Given the description of an element on the screen output the (x, y) to click on. 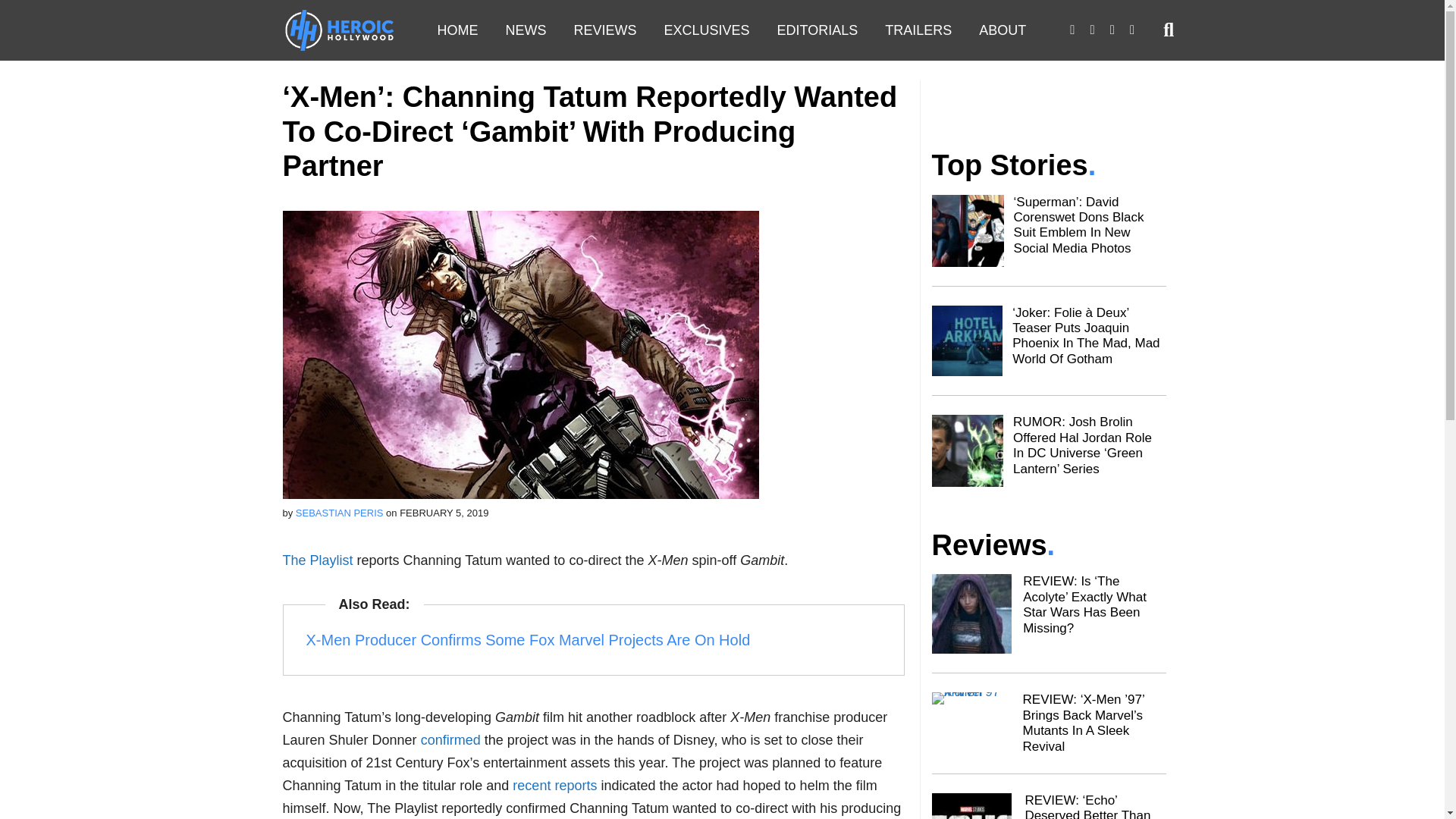
EXCLUSIVES (706, 30)
REVIEWS (604, 30)
NEWS (525, 30)
2019-02-05 (442, 512)
ABOUT (1002, 30)
HOME (457, 30)
TRAILERS (917, 30)
EDITORIALS (817, 30)
